Given the description of an element on the screen output the (x, y) to click on. 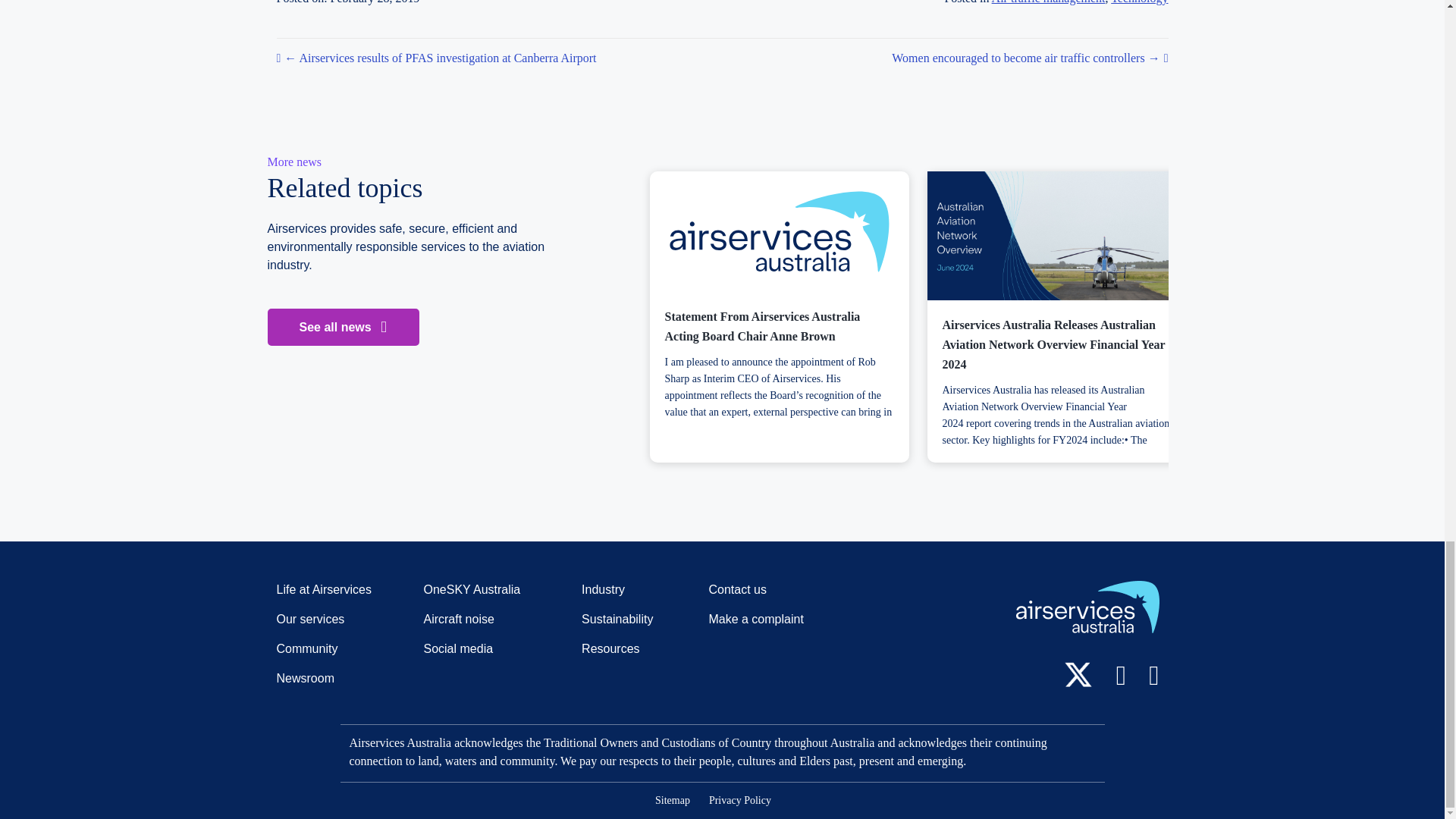
AANO website banner - June 2024 (1056, 236)
Women encouraged to become air traffic controllers (994, 57)
Airservices Australia - Logo (1087, 606)
